Given the description of an element on the screen output the (x, y) to click on. 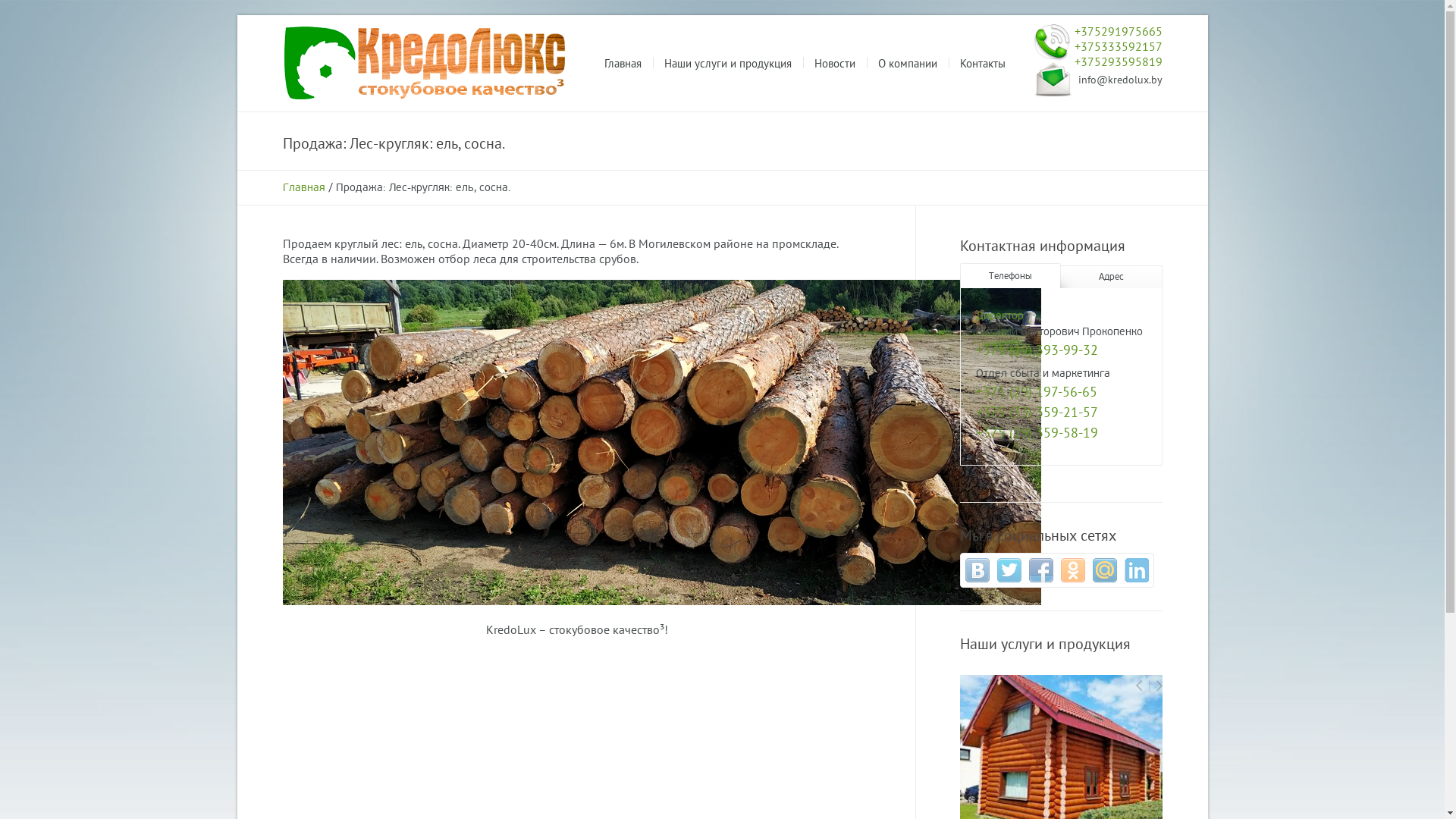
+375333592157 Element type: text (1117, 45)
+375293595819 Element type: text (1117, 61)
+375291975665 Element type: text (1117, 30)
